Given the description of an element on the screen output the (x, y) to click on. 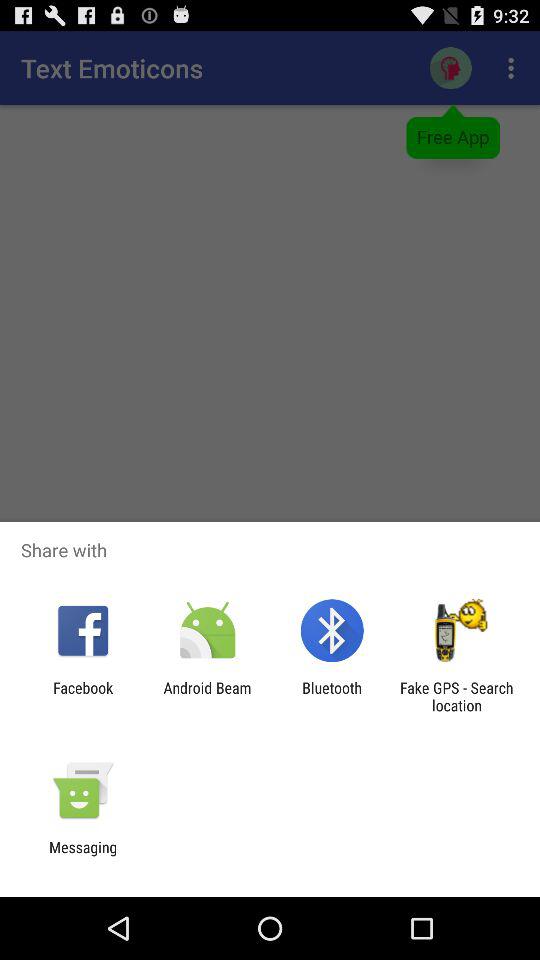
turn off the item to the right of facebook app (207, 696)
